Given the description of an element on the screen output the (x, y) to click on. 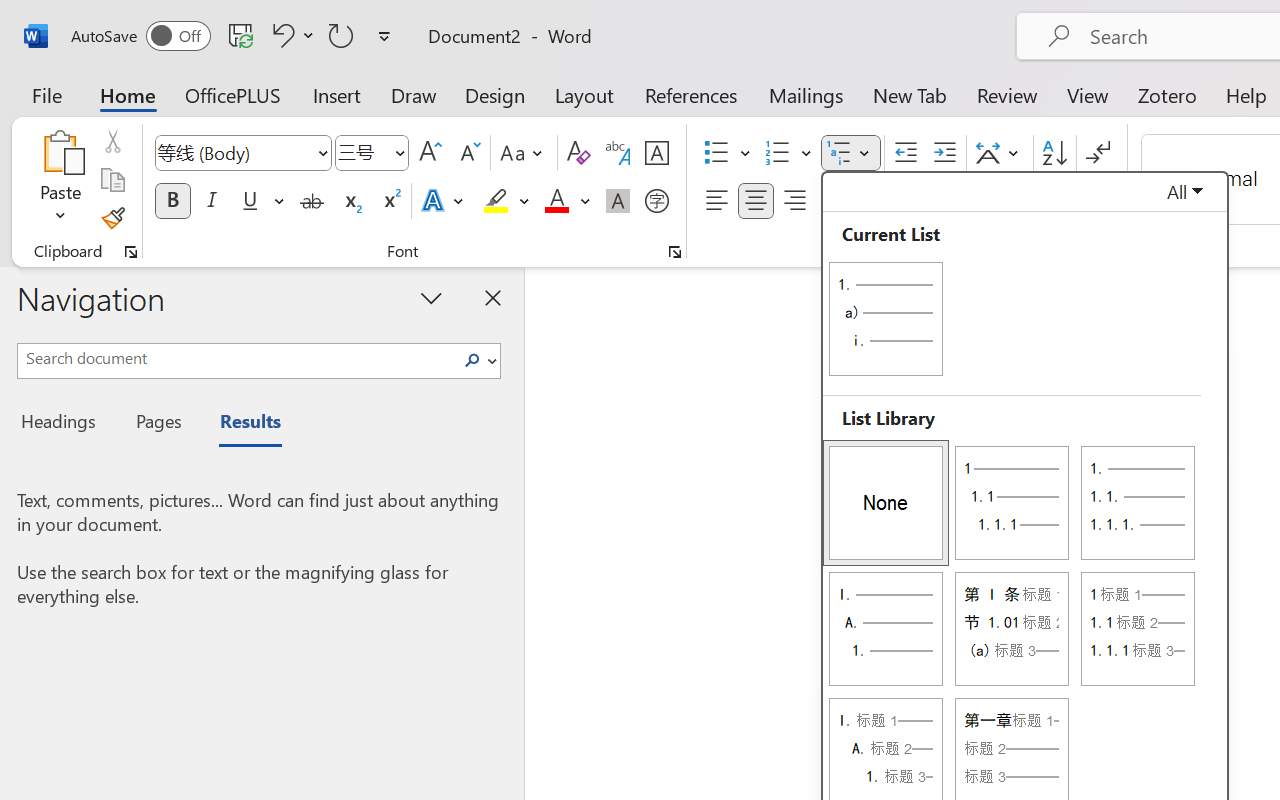
Office Clipboard... (131, 252)
View (1087, 94)
Multilevel List (850, 153)
Superscript (390, 201)
OfficePLUS (233, 94)
Save (241, 35)
Design (495, 94)
Undo Style (290, 35)
Clear Formatting (578, 153)
Text Effects and Typography (444, 201)
Headings (64, 424)
Bullets (727, 153)
